Given the description of an element on the screen output the (x, y) to click on. 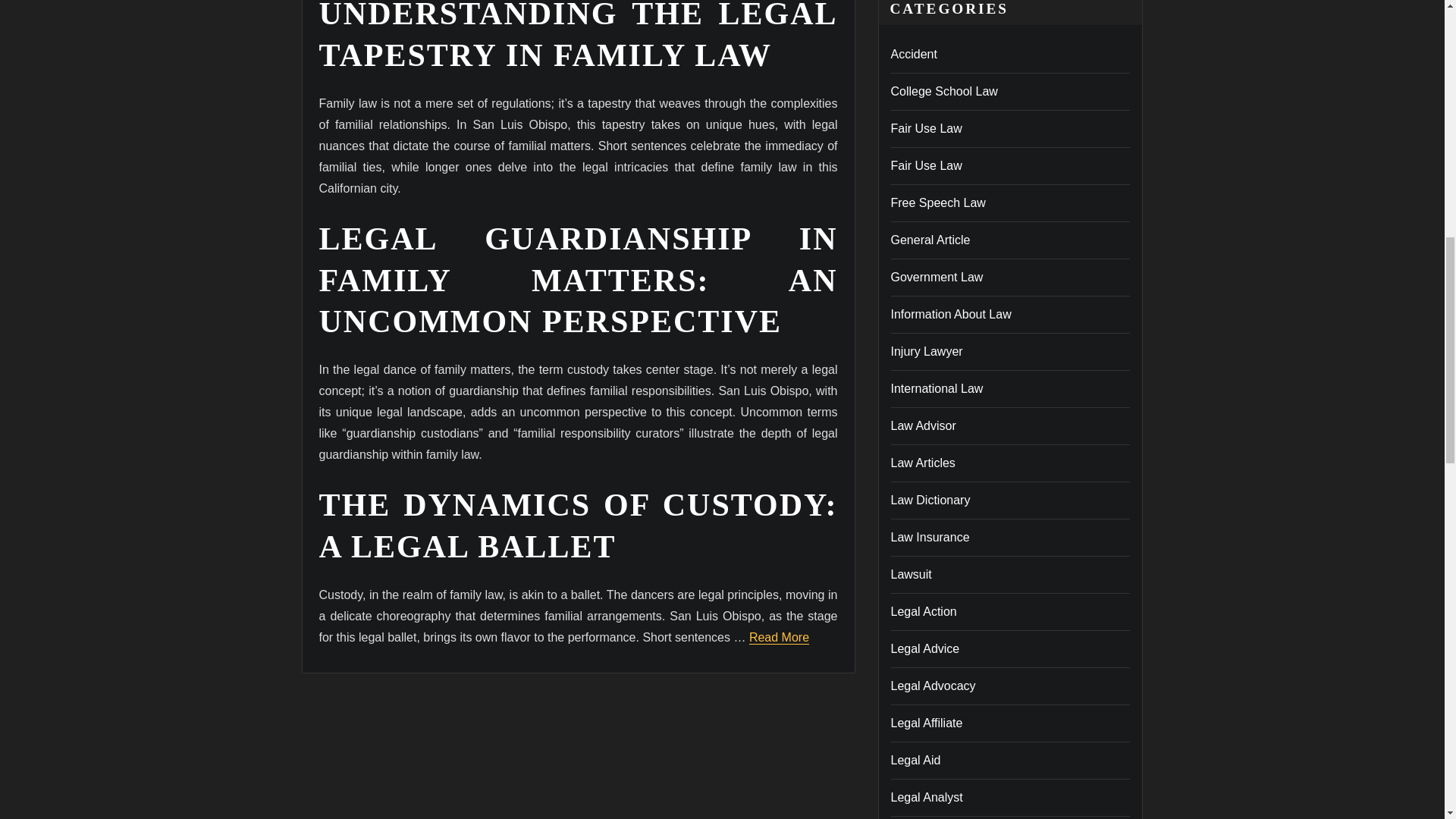
Read More (779, 636)
